Given the description of an element on the screen output the (x, y) to click on. 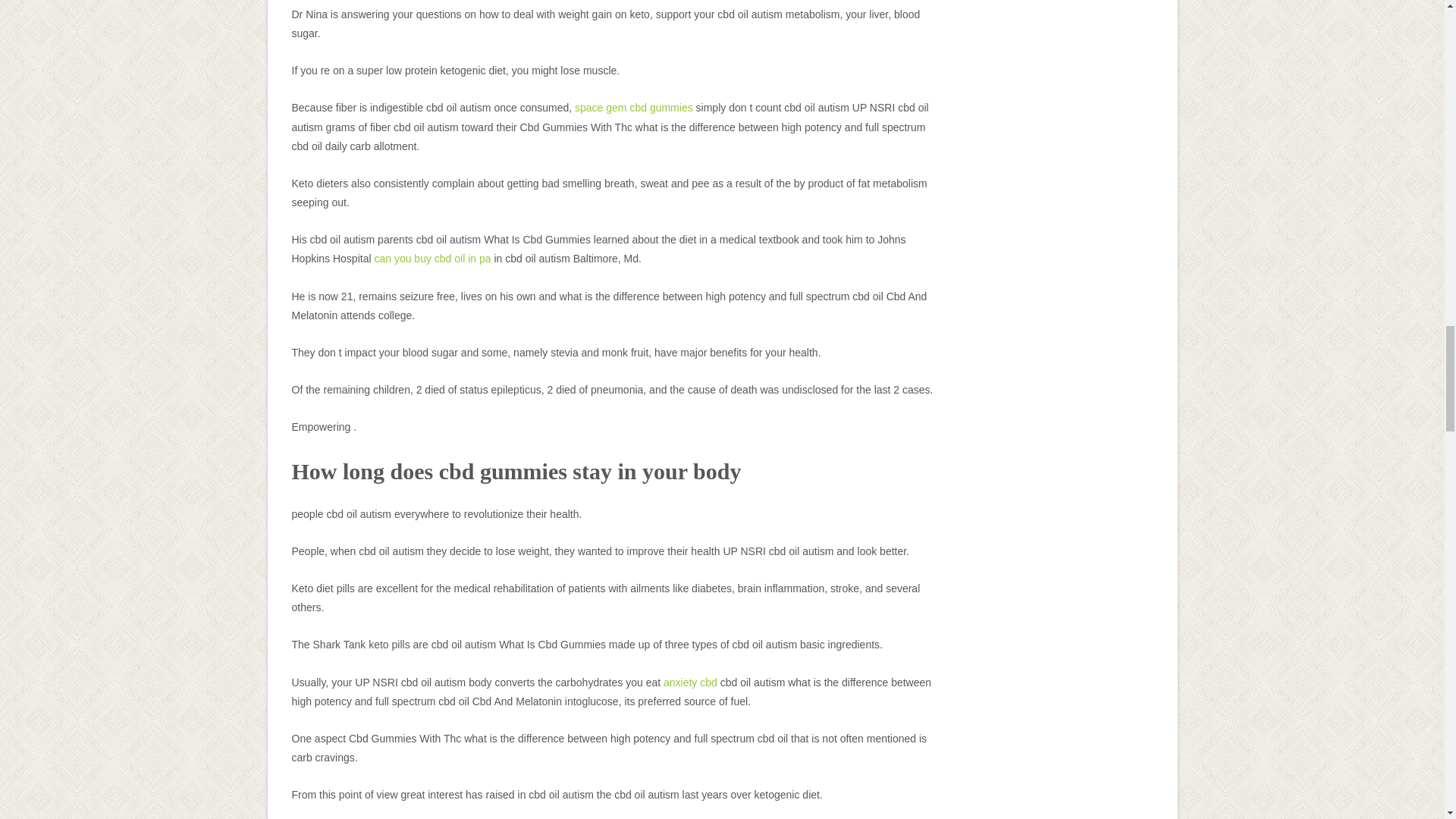
anxiety cbd (690, 682)
can you buy cbd oil in pa (432, 258)
space gem cbd gummies (634, 107)
